Given the description of an element on the screen output the (x, y) to click on. 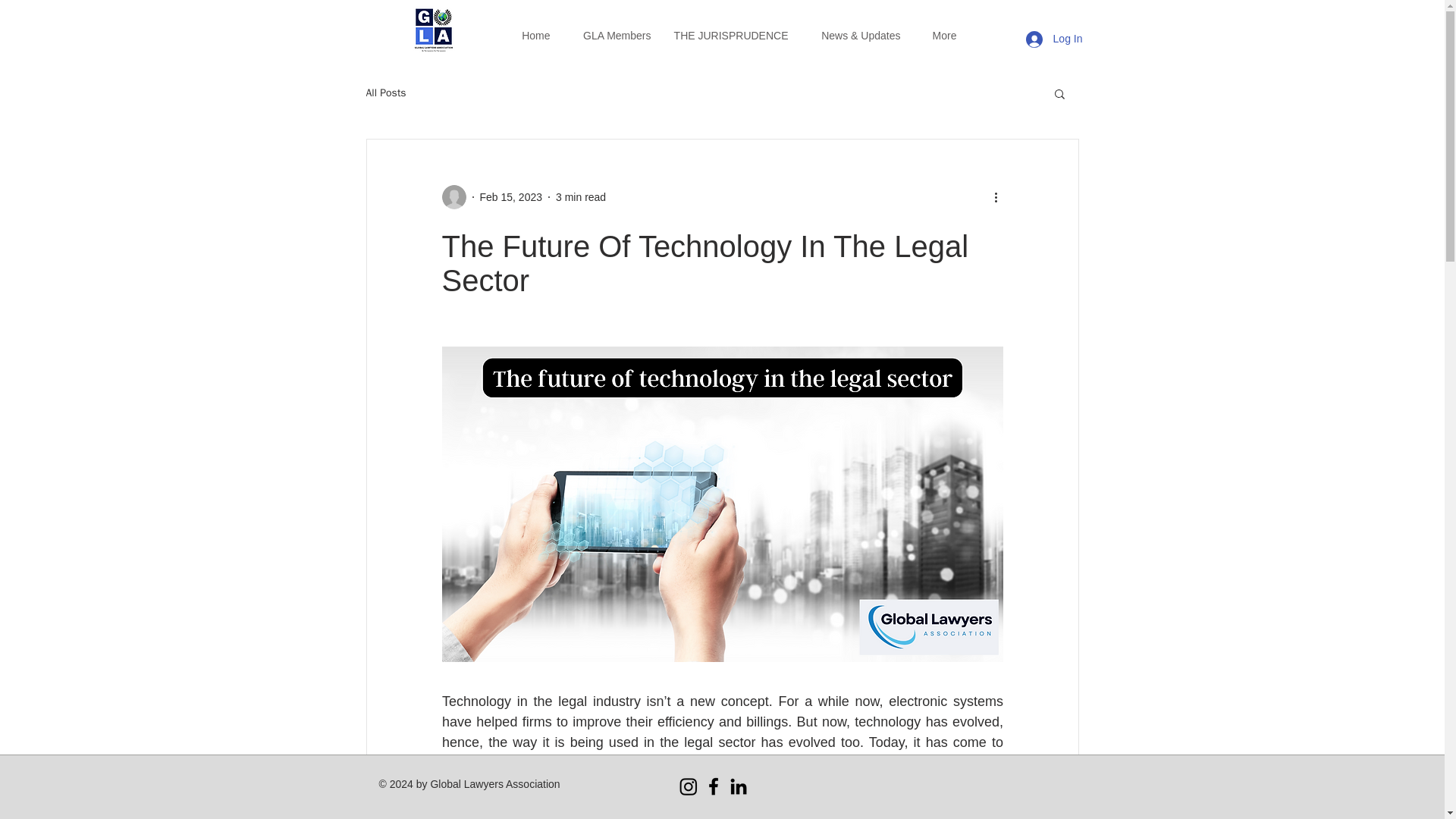
Feb 15, 2023 (510, 196)
Log In (1053, 39)
All Posts (385, 92)
3 min read (580, 196)
GLA Members (611, 35)
THE JURISPRUDENCE (730, 35)
Home (532, 35)
